Given the description of an element on the screen output the (x, y) to click on. 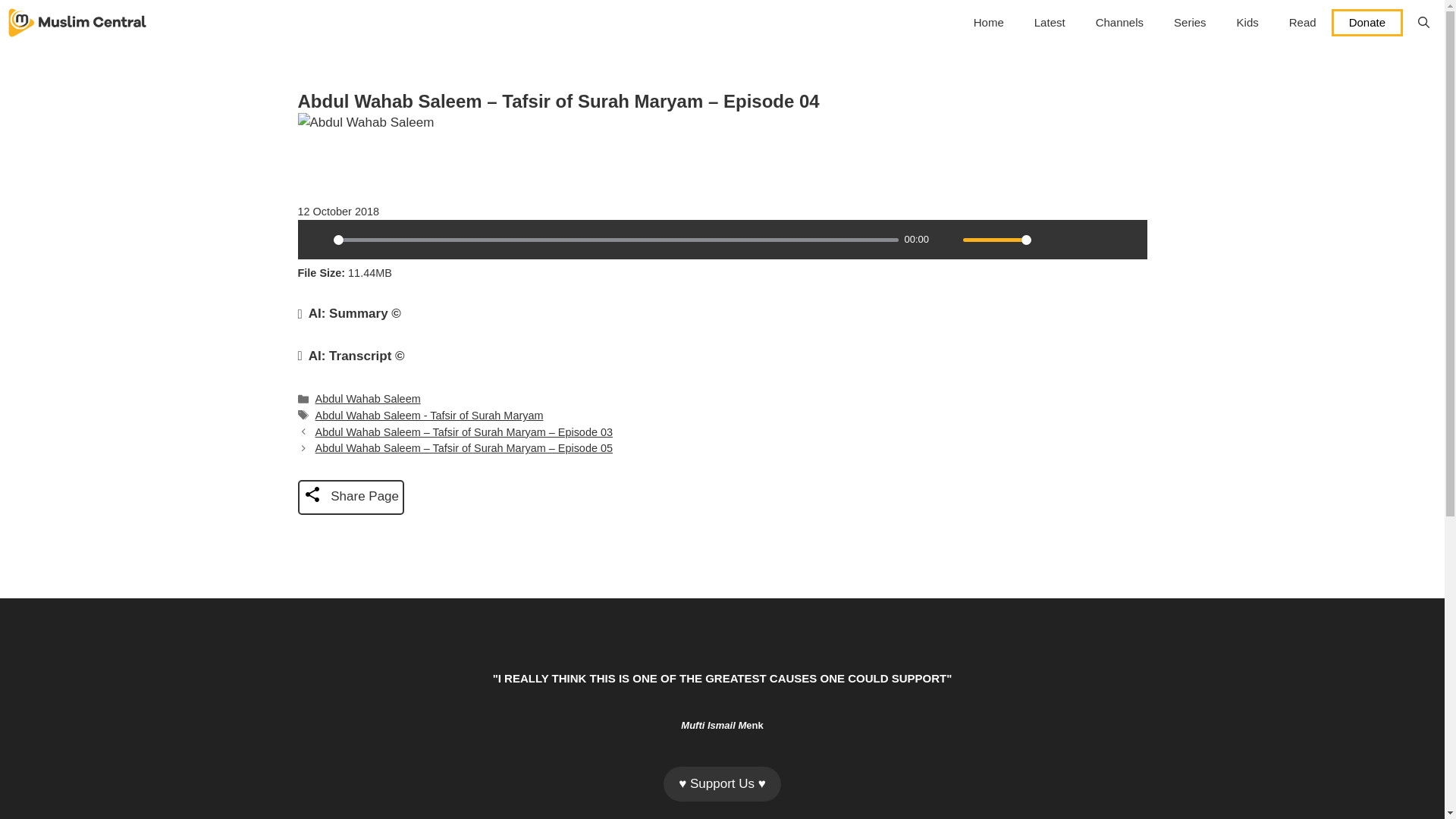
Forward 10s (1126, 239)
Mute (946, 239)
Download (1074, 239)
Read (1303, 22)
Rewind 10s (1101, 239)
Muslim Central (77, 22)
Abdul Wahab Saleem (367, 398)
Channels (1119, 22)
Play (316, 239)
Settings (1048, 239)
